Given the description of an element on the screen output the (x, y) to click on. 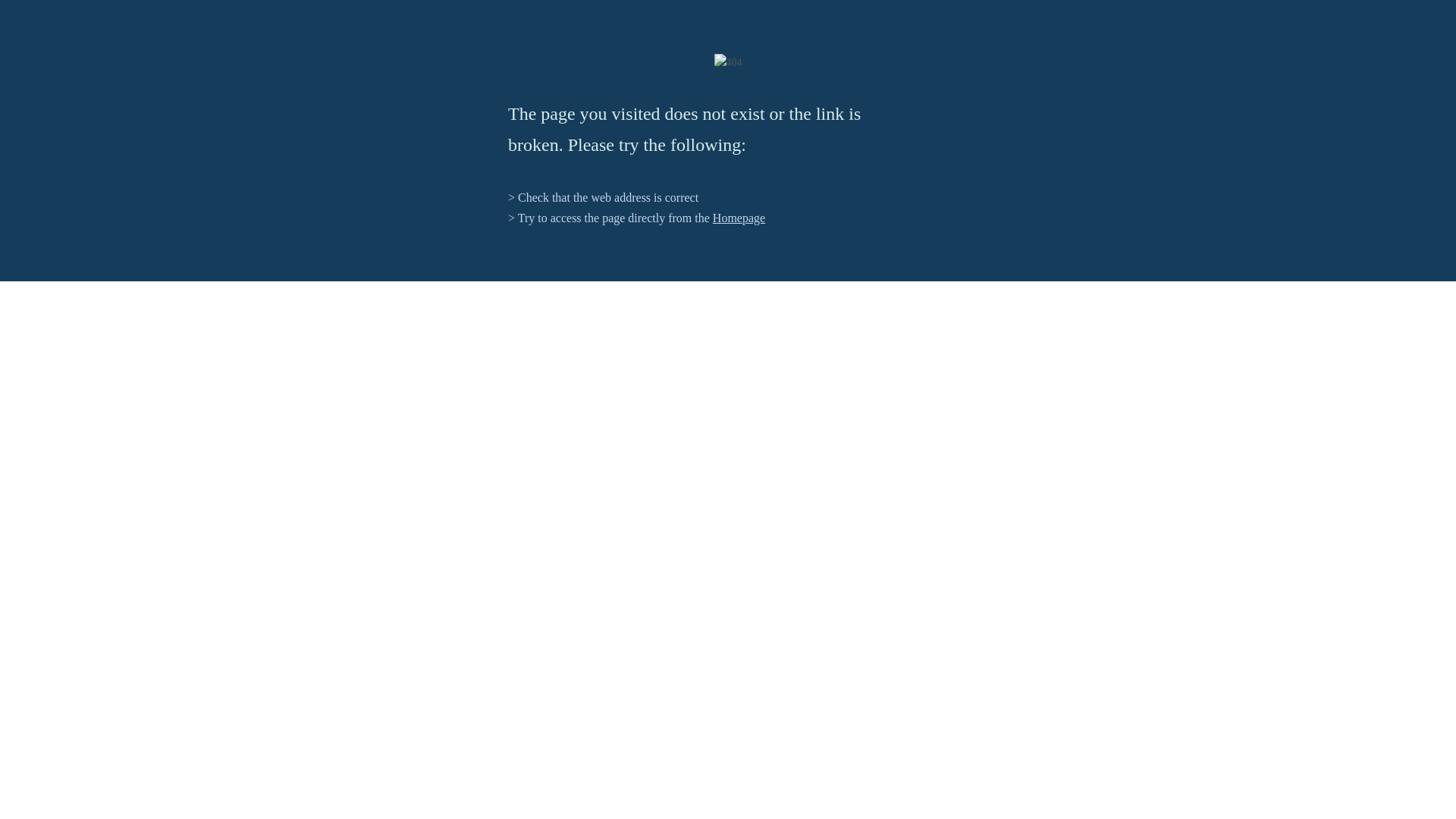
Homepage (739, 217)
